Given the description of an element on the screen output the (x, y) to click on. 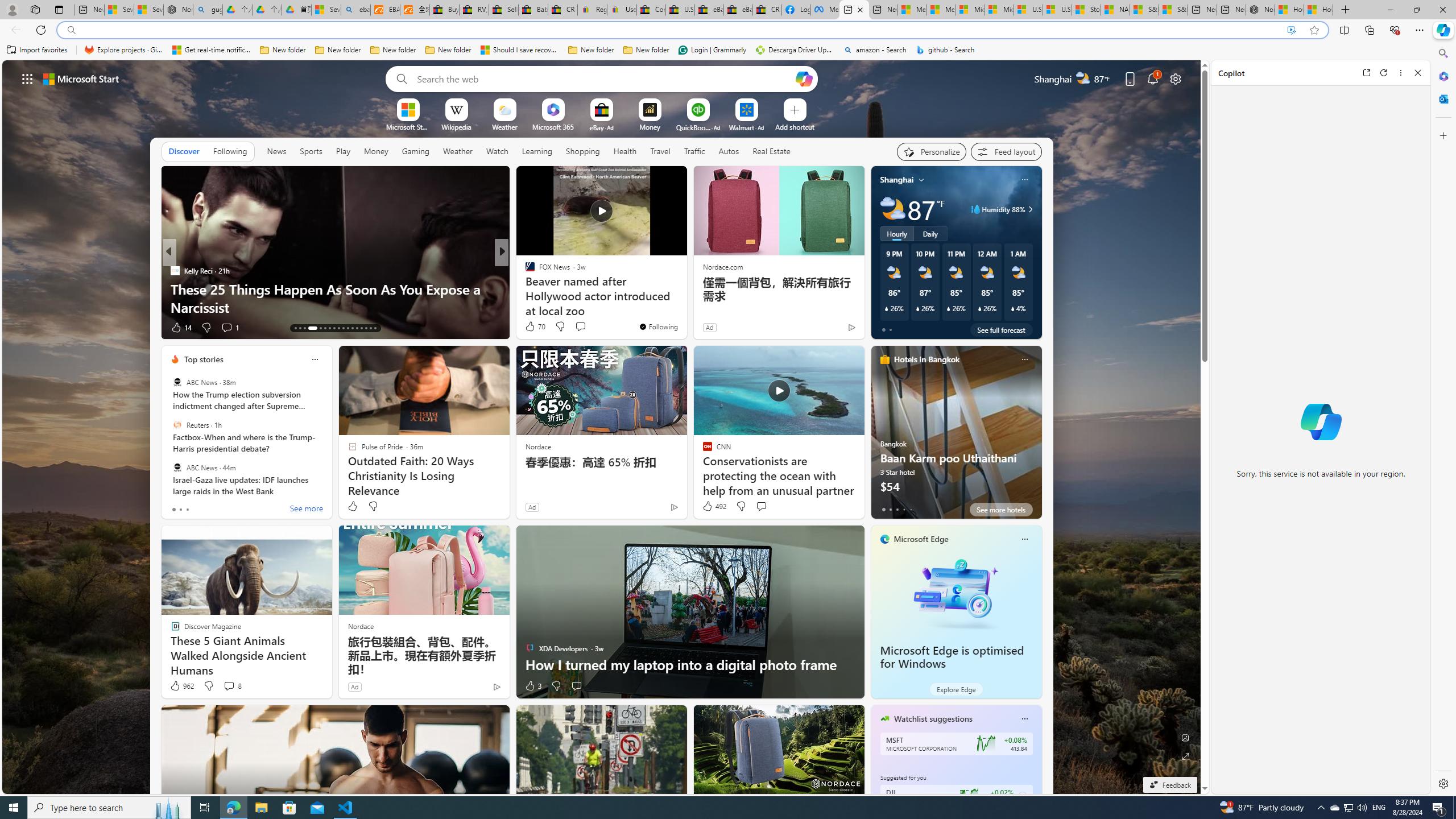
tab-0 (882, 509)
tab-4 (910, 509)
Autos (728, 151)
AutomationID: tab-33 (366, 328)
Animals Around The Globe (US) (524, 288)
View comments 167 Comment (583, 327)
My location (921, 179)
You're following FOX News (657, 326)
AutomationID: tab-16 (312, 328)
Log into Facebook (796, 9)
